Given the description of an element on the screen output the (x, y) to click on. 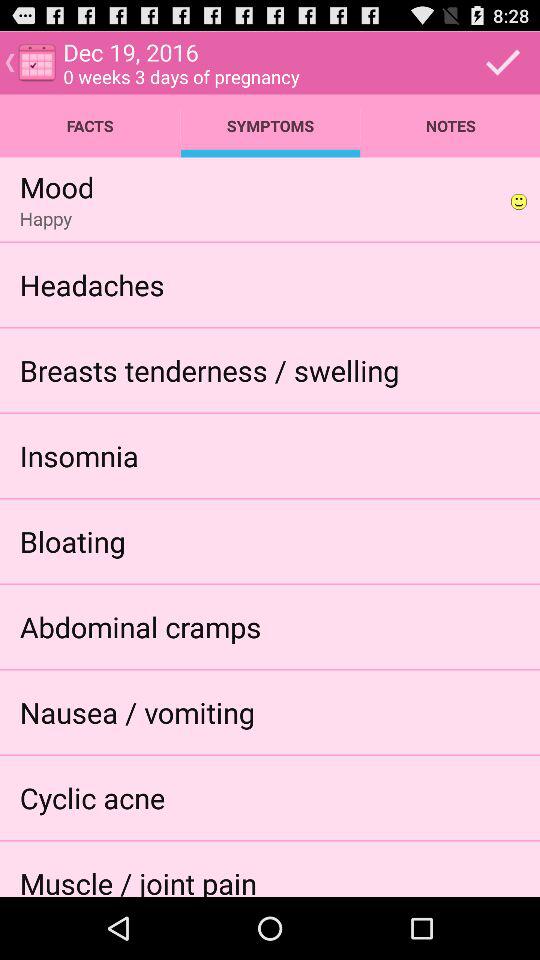
tap the headaches icon (91, 284)
